Given the description of an element on the screen output the (x, y) to click on. 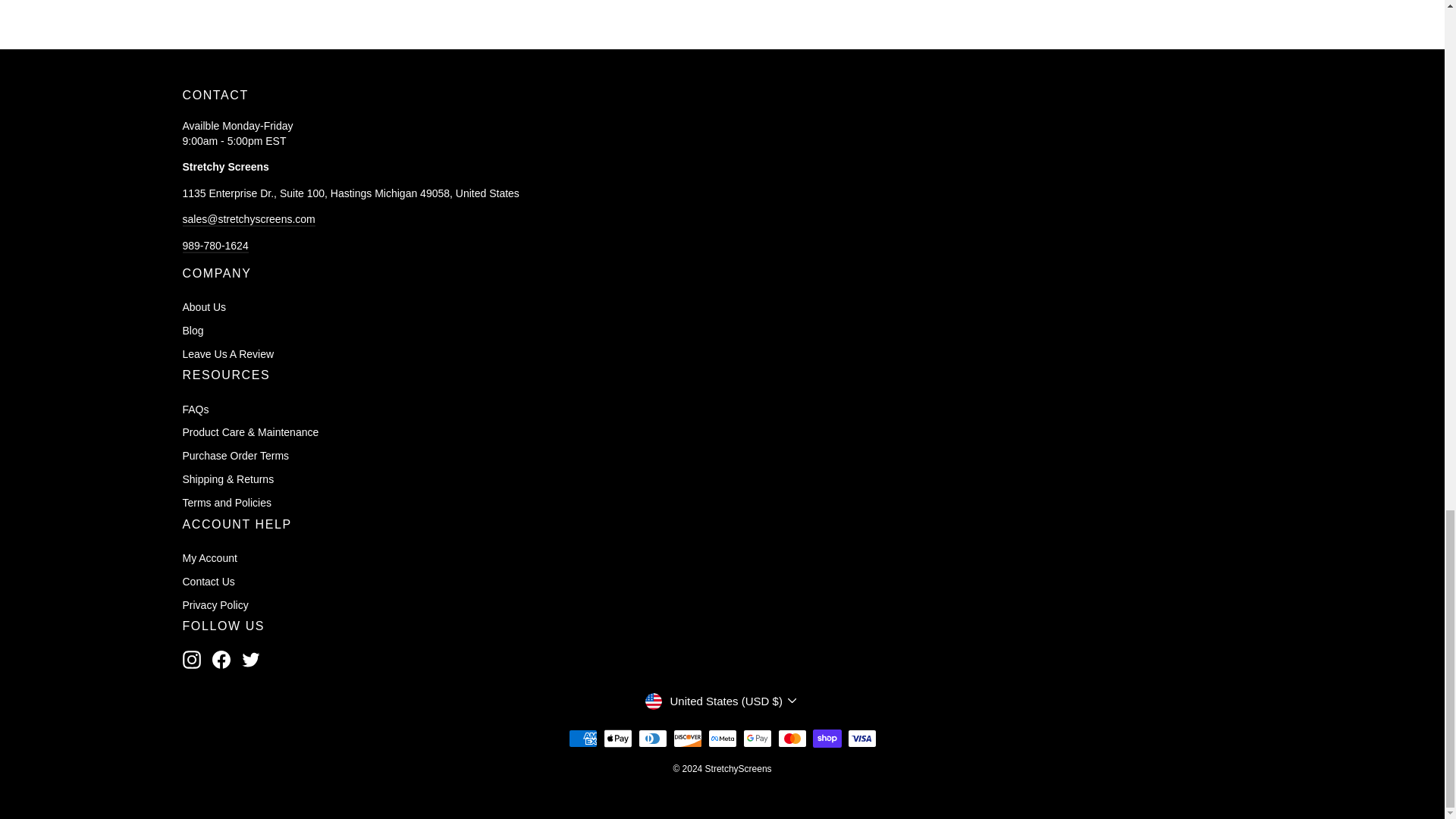
Discover (686, 738)
Meta Pay (721, 738)
Google Pay (756, 738)
American Express (582, 738)
tel:989-780-1624 (214, 246)
StretchyScreens on Twitter (250, 659)
StretchyScreens on Instagram (191, 659)
Apple Pay (617, 738)
StretchyScreens on Facebook (221, 659)
Diners Club (652, 738)
